Given the description of an element on the screen output the (x, y) to click on. 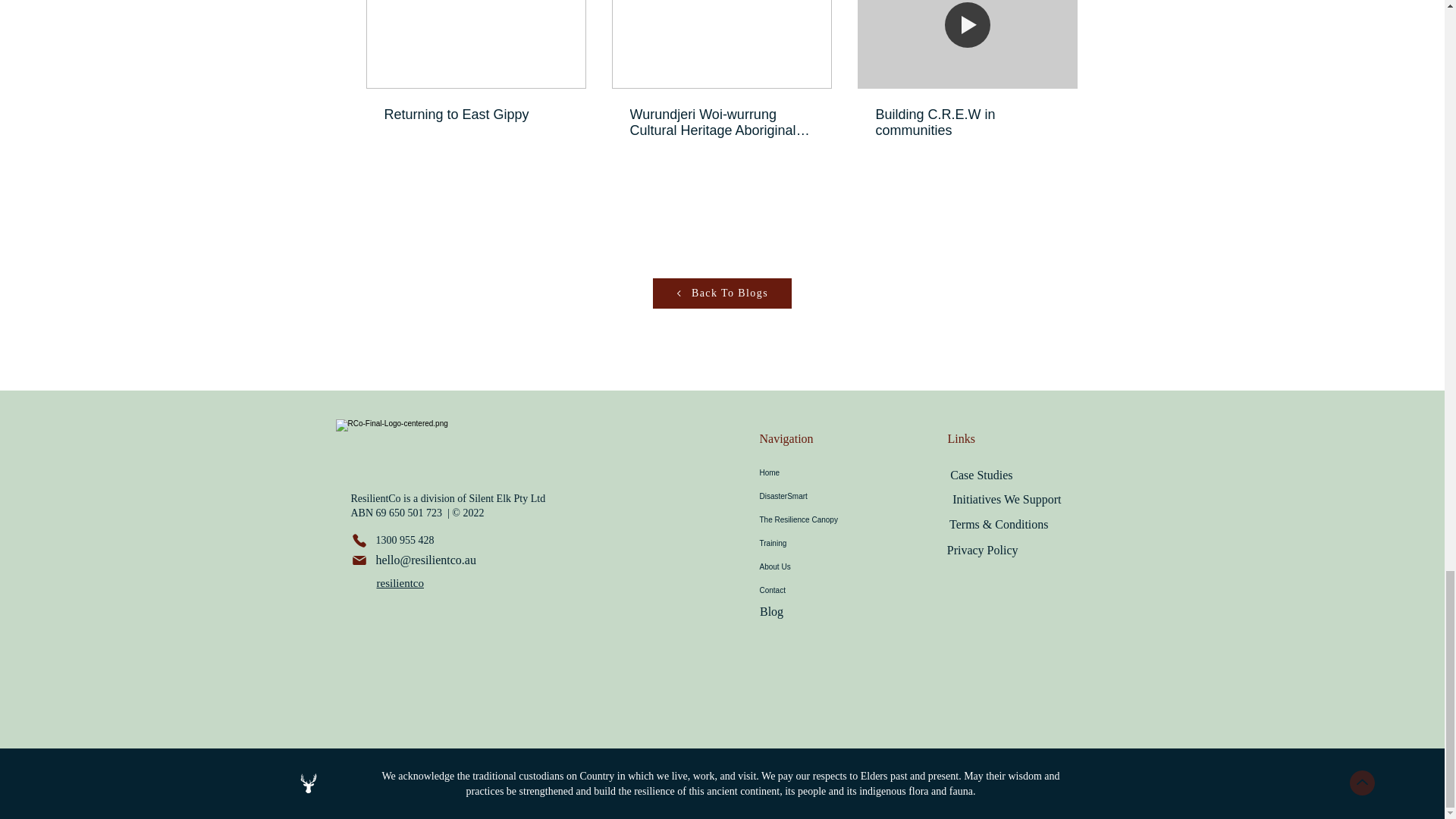
DisasterSmart (830, 495)
Returning to East Gippy (475, 114)
resilientco (399, 582)
Original on Transparent.png (426, 444)
Building C.R.E.W in communities (966, 122)
1300 955 428 (403, 540)
Back To Blogs (721, 293)
Home (830, 472)
